Given the description of an element on the screen output the (x, y) to click on. 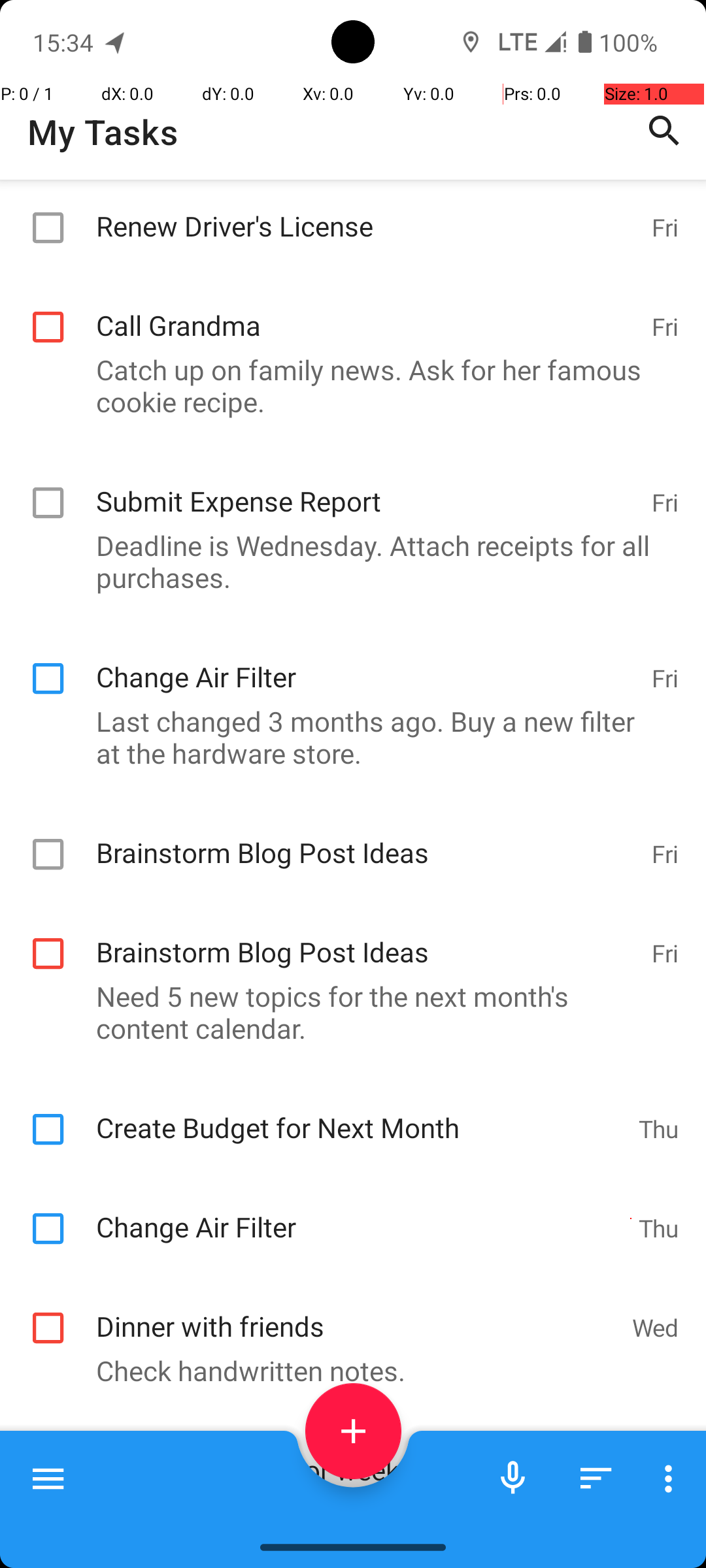
Need 5 new topics for the next month's content calendar. Element type: android.widget.TextView (346, 1011)
Dinner with friends Element type: android.widget.TextView (357, 1311)
Check handwritten notes. Element type: android.widget.TextView (346, 1369)
Prepare agenda for weekly meeting Element type: android.widget.TextView (357, 1455)
This is high priority. Element type: android.widget.TextView (346, 1510)
